Given the description of an element on the screen output the (x, y) to click on. 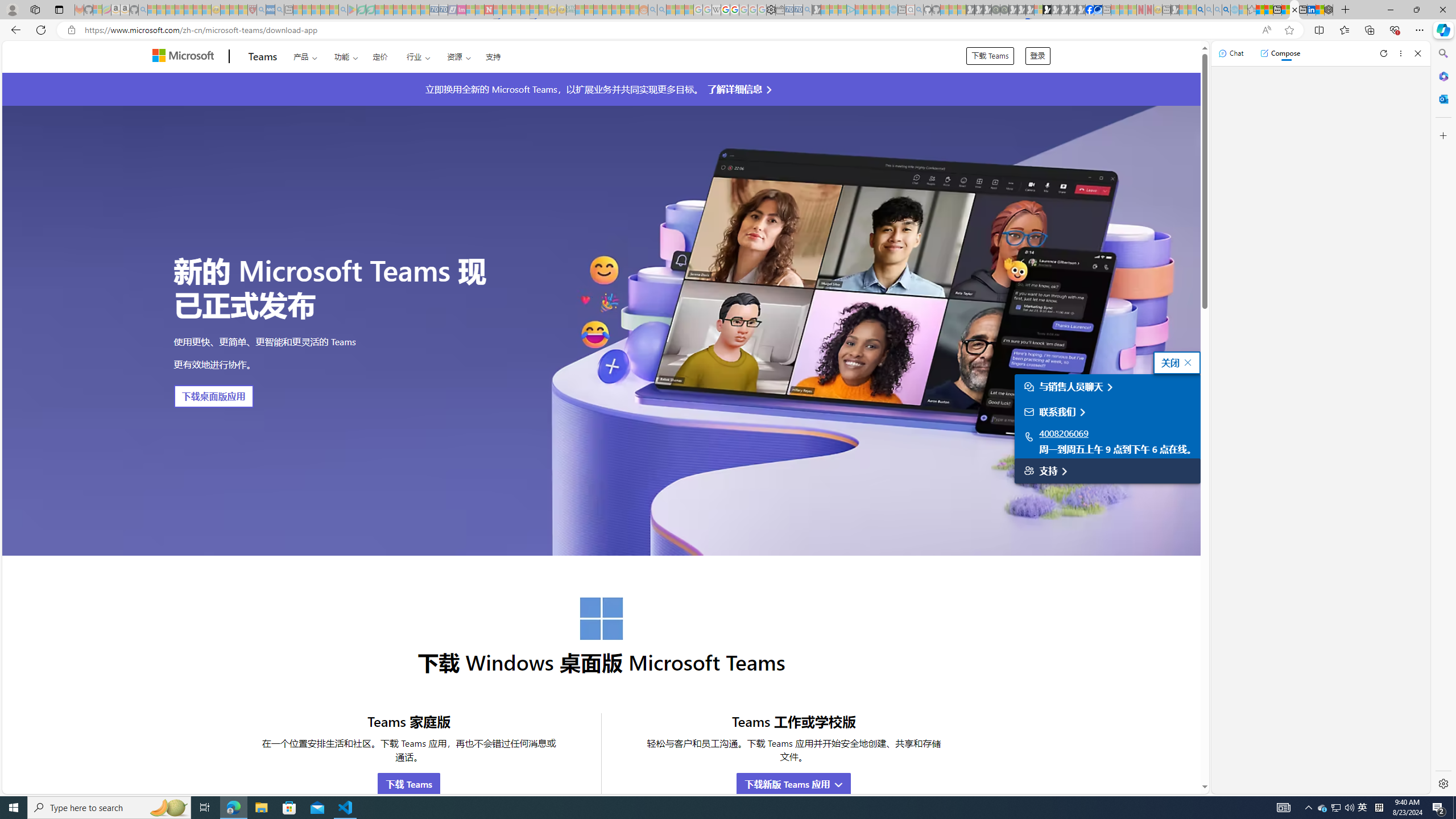
Privacy Help Center - Policies Help (725, 9)
